Given the description of an element on the screen output the (x, y) to click on. 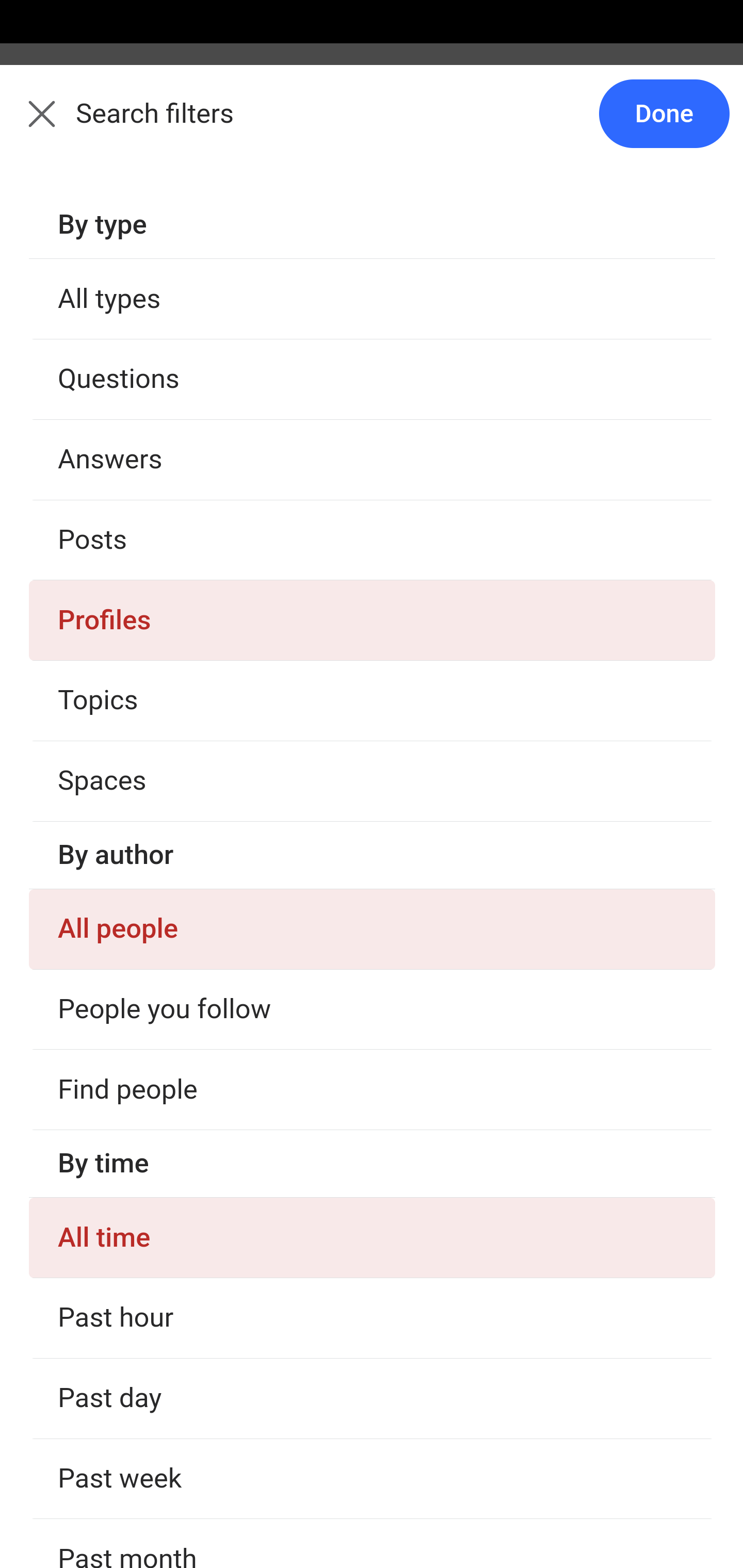
Back Search (371, 125)
Answer (125, 387)
1.1K answers 1.1K  answers (95, 1163)
Answer (125, 1220)
Answer (125, 1499)
